Given the description of an element on the screen output the (x, y) to click on. 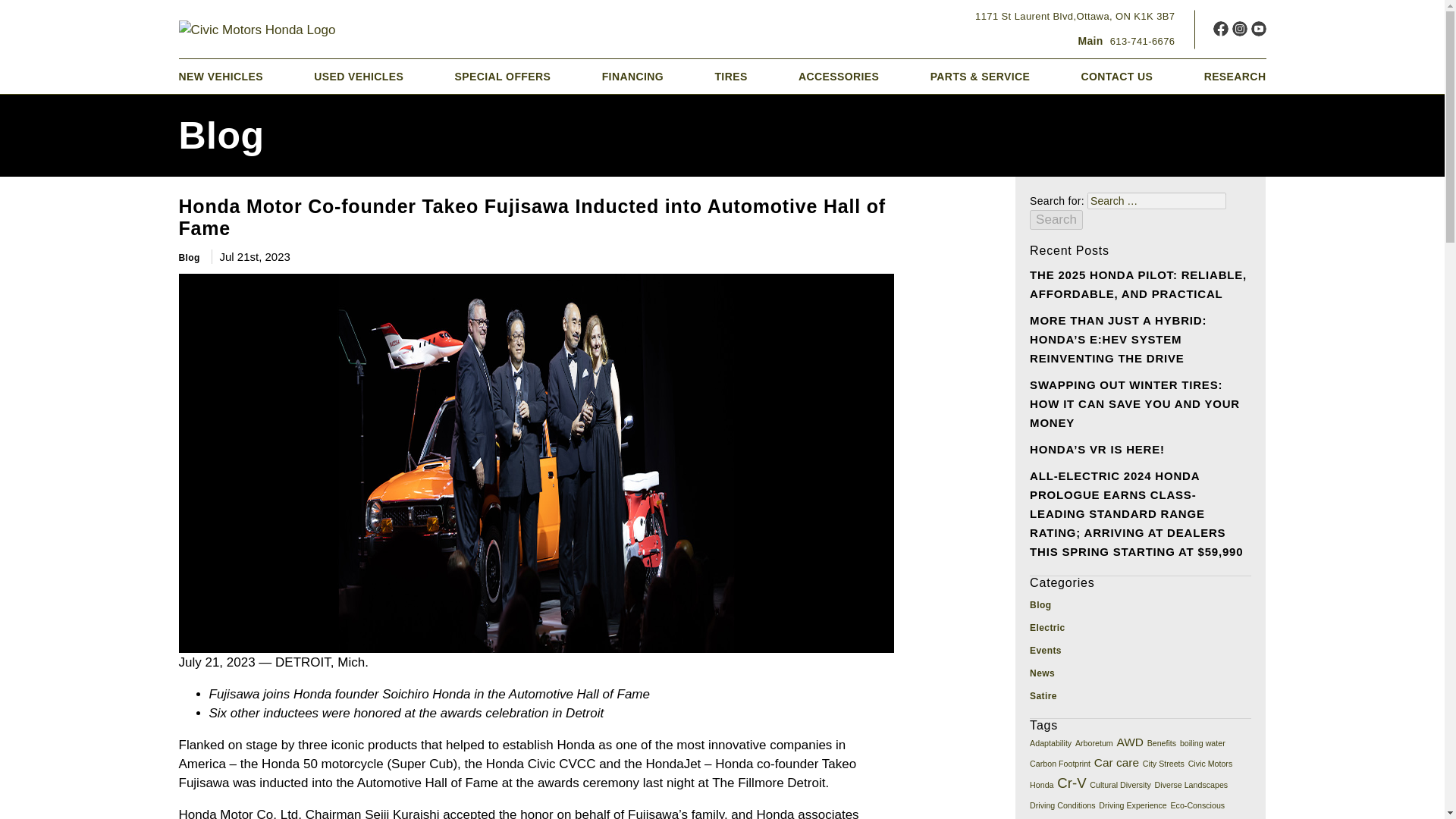
NEW VEHICLES (221, 76)
TIRES (730, 76)
Search (1056, 219)
Search (1074, 16)
SPECIAL OFFERS (1056, 219)
USED VEHICLES (502, 76)
Main 613-741-6676 (358, 76)
FINANCING (1125, 40)
ACCESSORIES (632, 76)
